Given the description of an element on the screen output the (x, y) to click on. 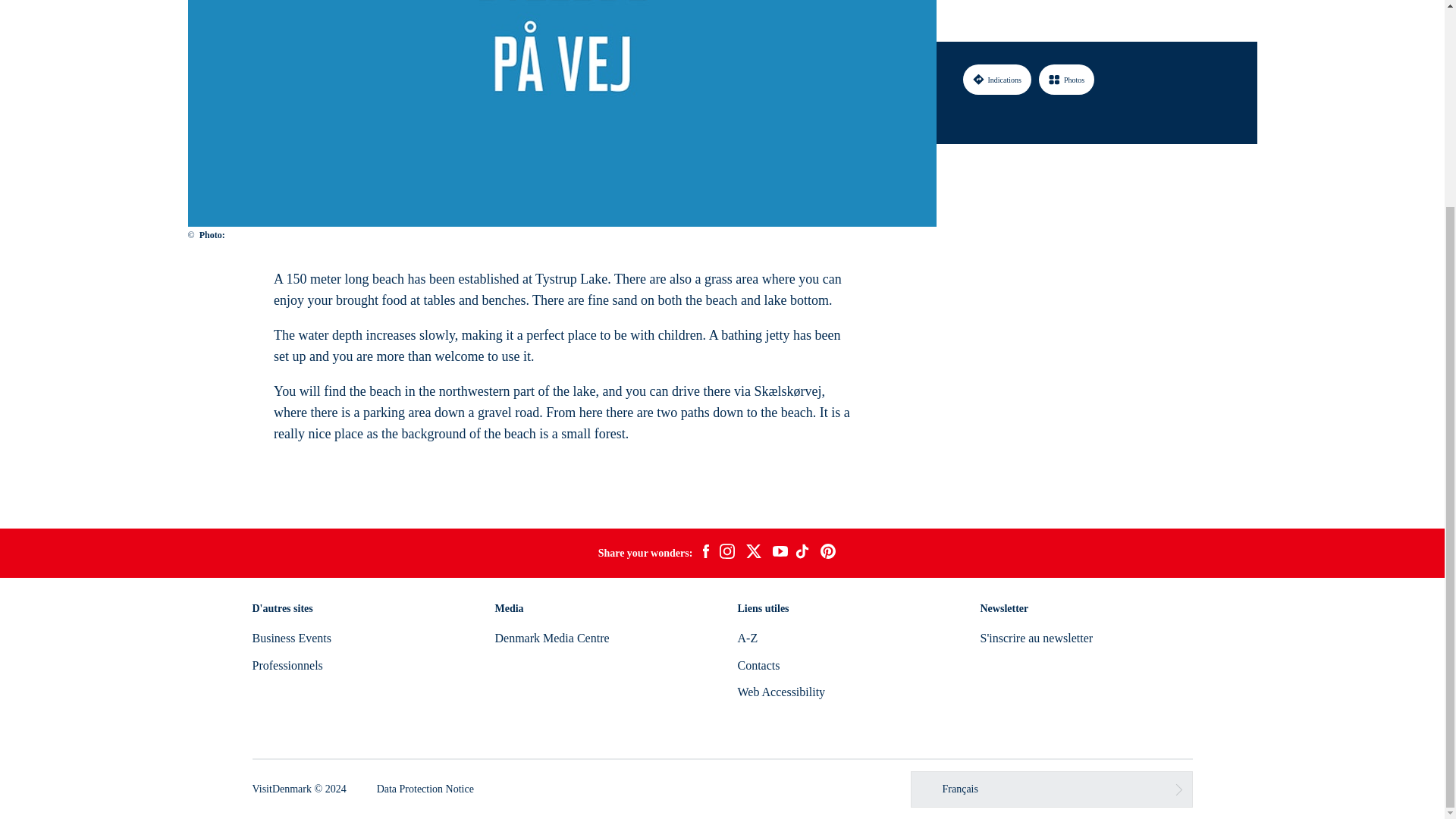
Professionnels (286, 665)
A-Z (746, 637)
Web Accessibility (780, 691)
S'inscrire au newsletter (1036, 637)
Business Events (290, 637)
Data Protection Notice (425, 789)
Professionnels (286, 665)
Web Accessibility (780, 691)
instagram (726, 553)
Business Events (290, 637)
